Given the description of an element on the screen output the (x, y) to click on. 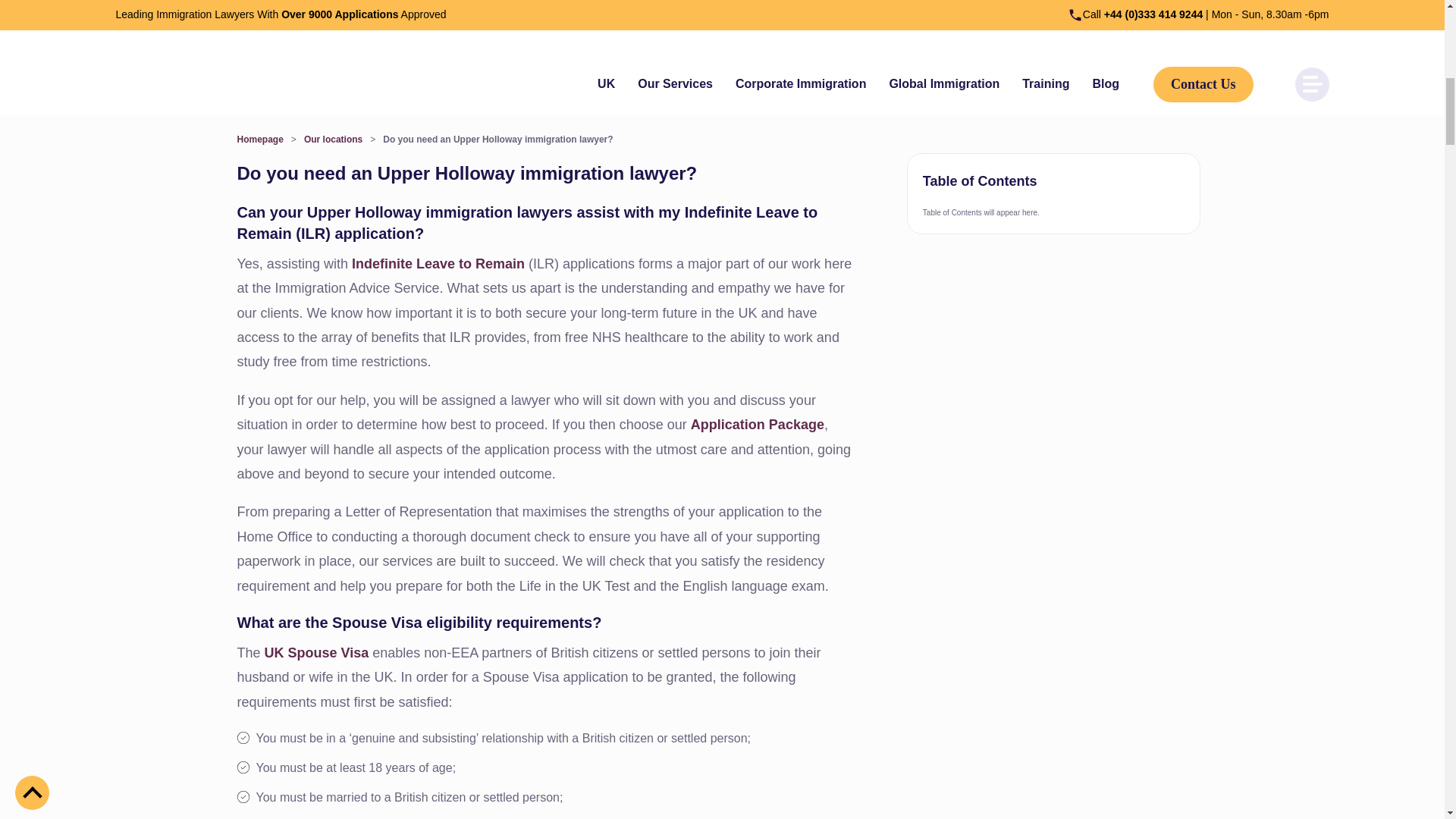
Do you need an Upper Holloway immigration lawyer? (497, 139)
Homepage (258, 139)
